Given the description of an element on the screen output the (x, y) to click on. 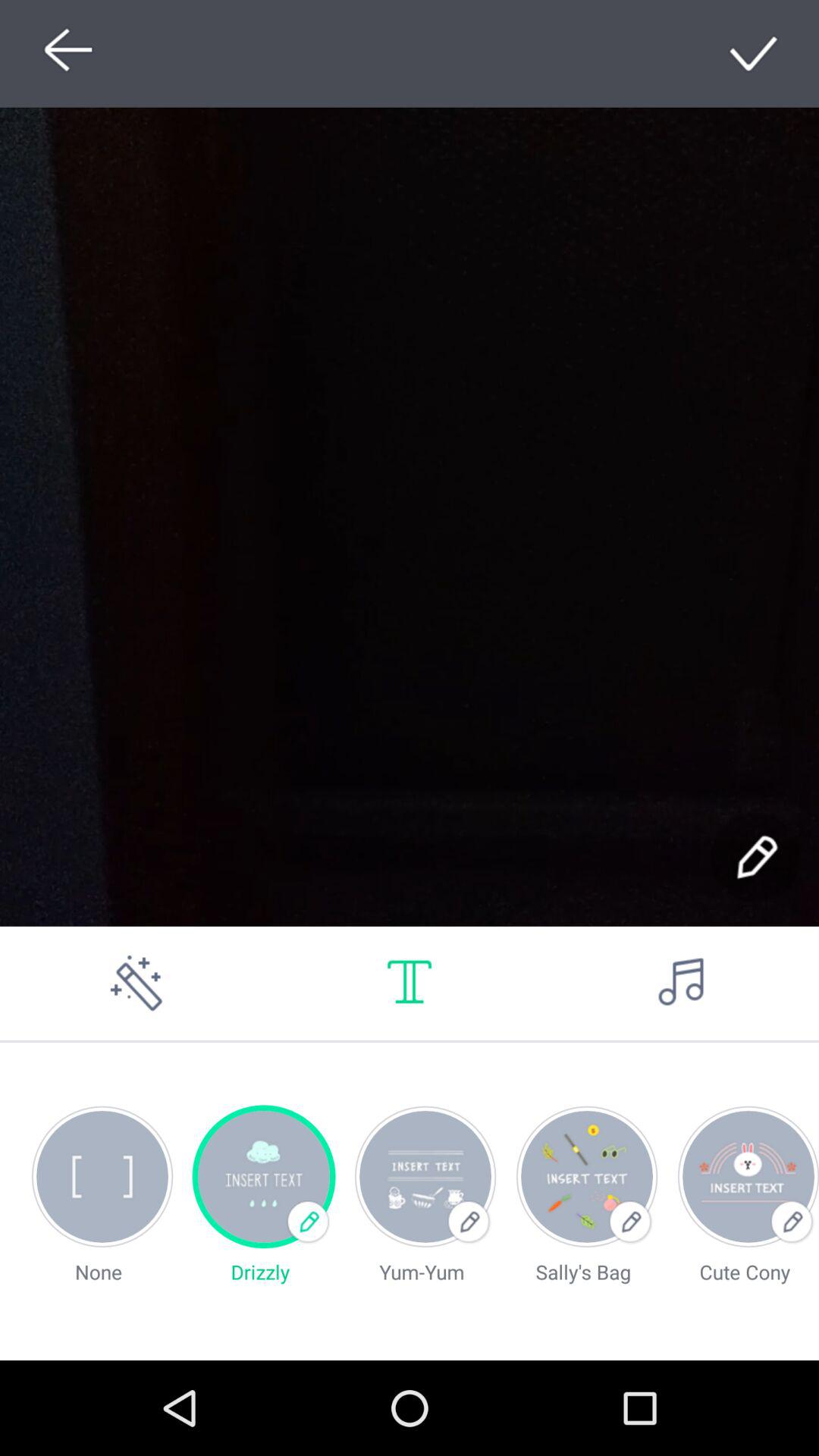
select this item (754, 53)
